Given the description of an element on the screen output the (x, y) to click on. 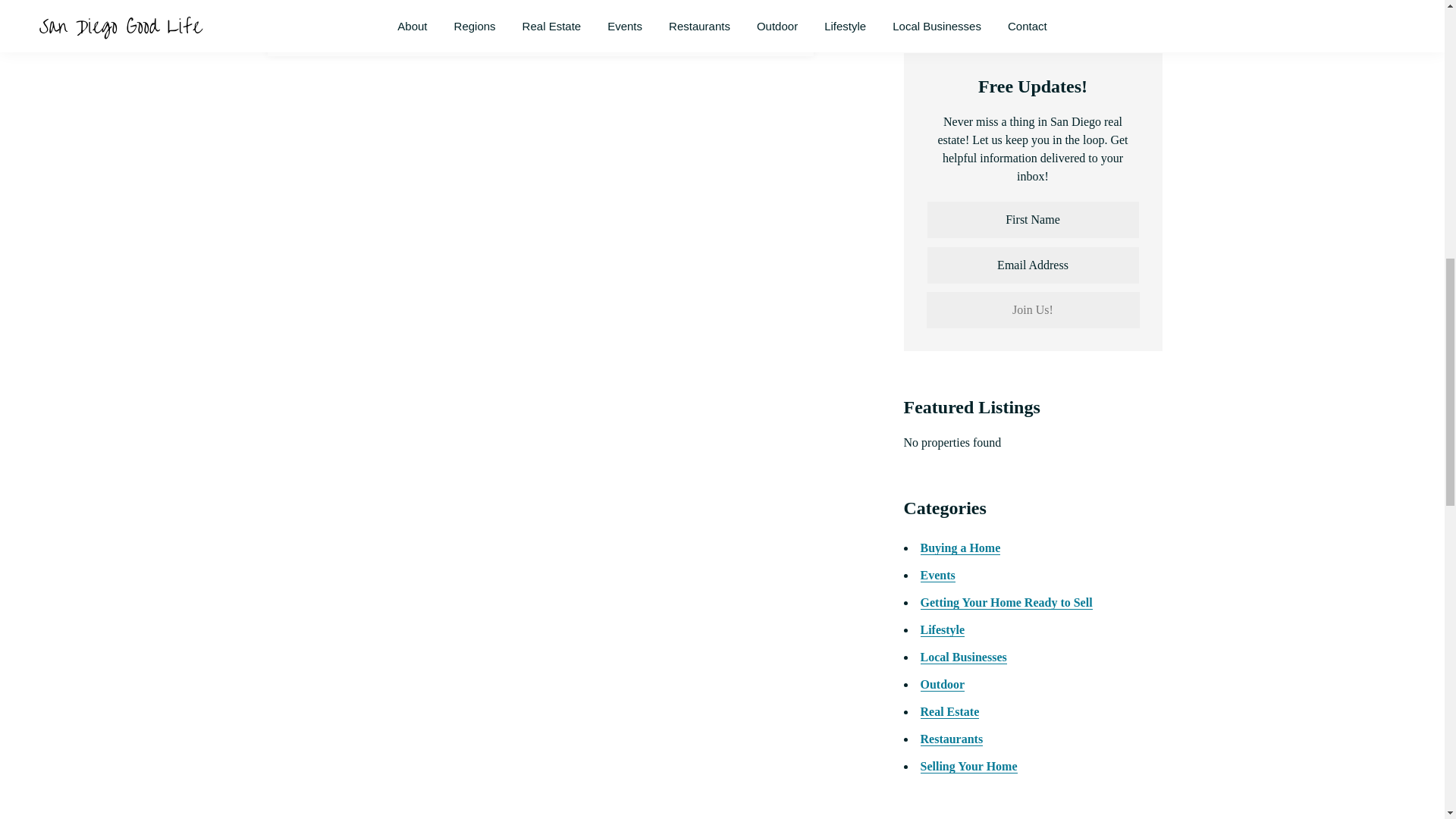
Join Us! (1033, 309)
